Given the description of an element on the screen output the (x, y) to click on. 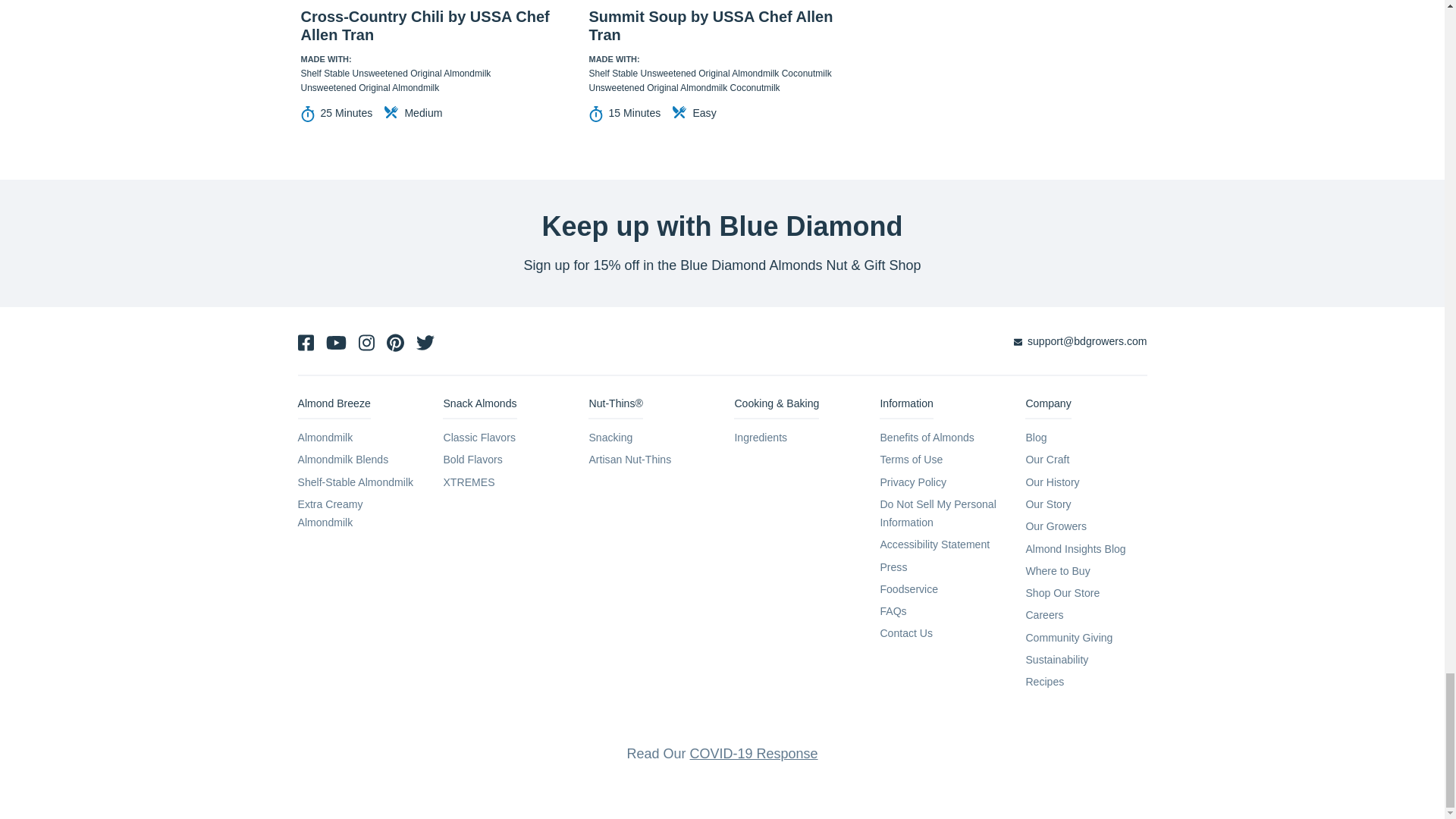
Almondmilk Blends (342, 459)
XTREMES (468, 481)
Classic Flavors (478, 437)
Almond Breeze (333, 407)
Snacking (609, 437)
Extra Creamy Almondmilk (329, 512)
Snack Almonds (479, 407)
Ingredients (760, 437)
Shelf-Stable Almondmilk (355, 481)
Bold Flavors (472, 459)
Artisan Nut-Thins (629, 459)
Almondmilk (324, 437)
Benefits of Almonds (926, 437)
